Given the description of an element on the screen output the (x, y) to click on. 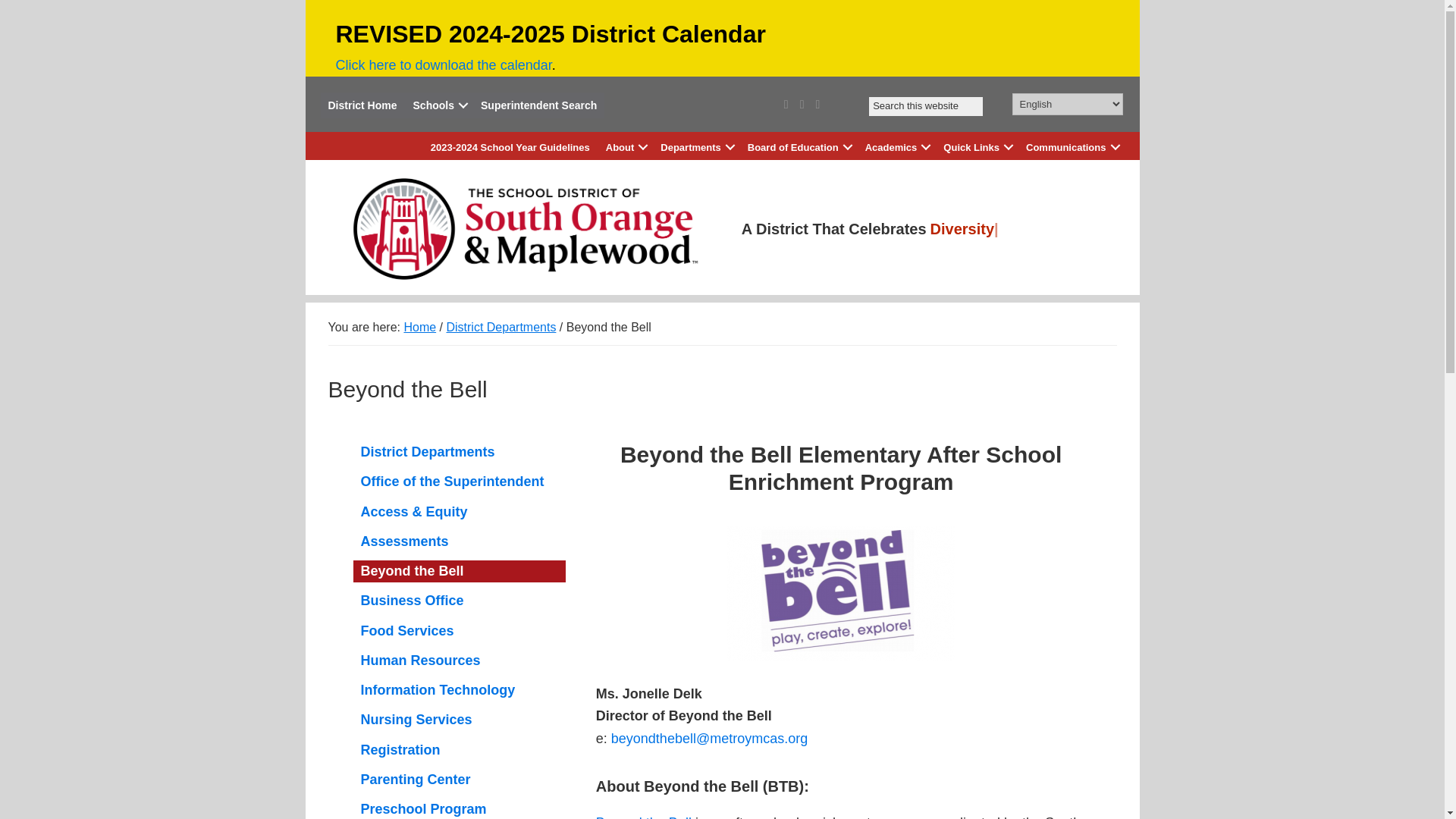
About (625, 147)
Schools (438, 104)
2023-2024 School Year Guidelines (509, 147)
Superintendent Search (538, 104)
Click here to download the calendar (442, 64)
District Home (362, 104)
